Given the description of an element on the screen output the (x, y) to click on. 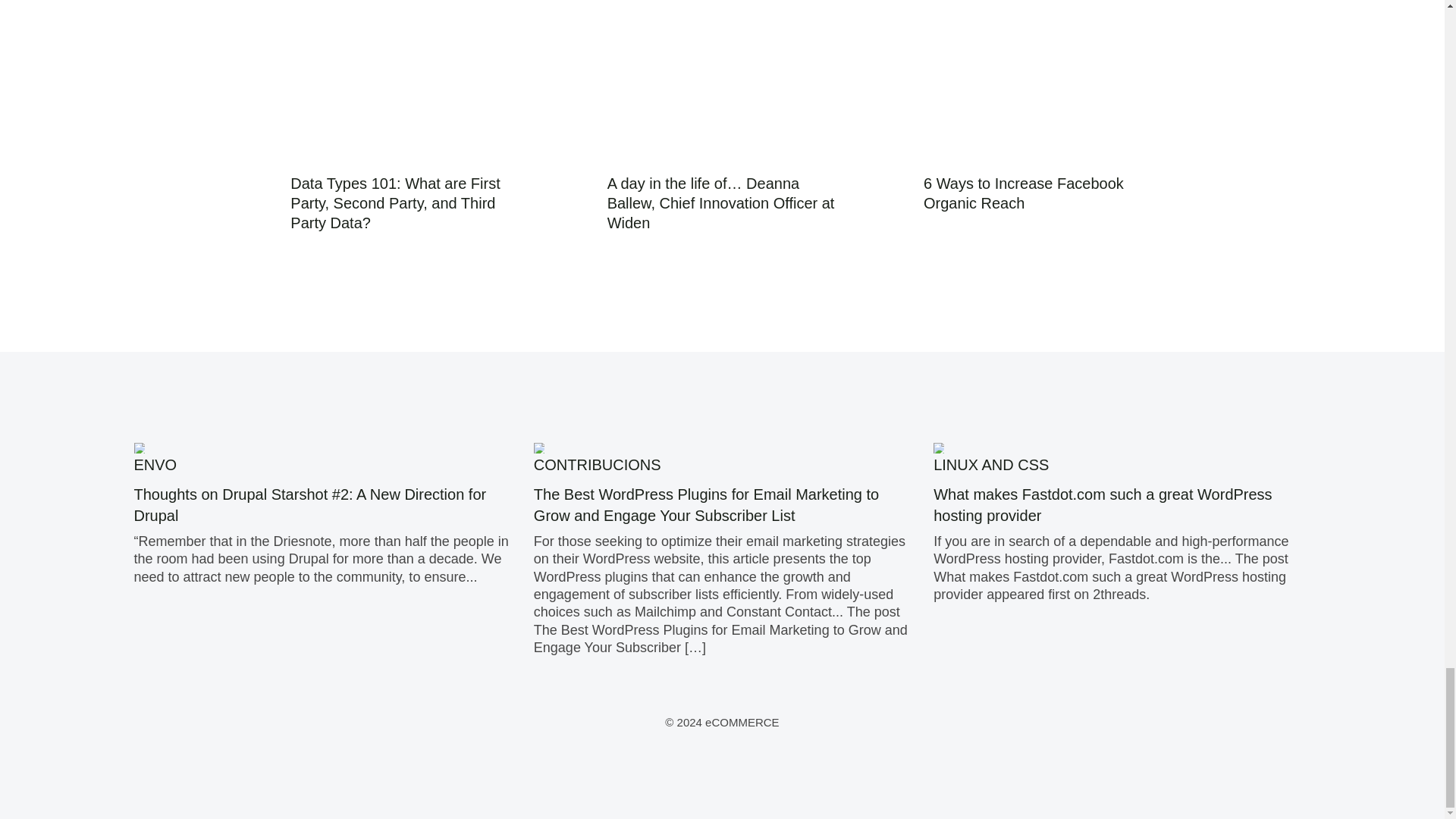
CONTRIBUCIONS (597, 464)
ENVO (154, 464)
LINUX AND CSS (990, 464)
6 Ways to Increase Facebook Organic Reach (1023, 193)
